Given the description of an element on the screen output the (x, y) to click on. 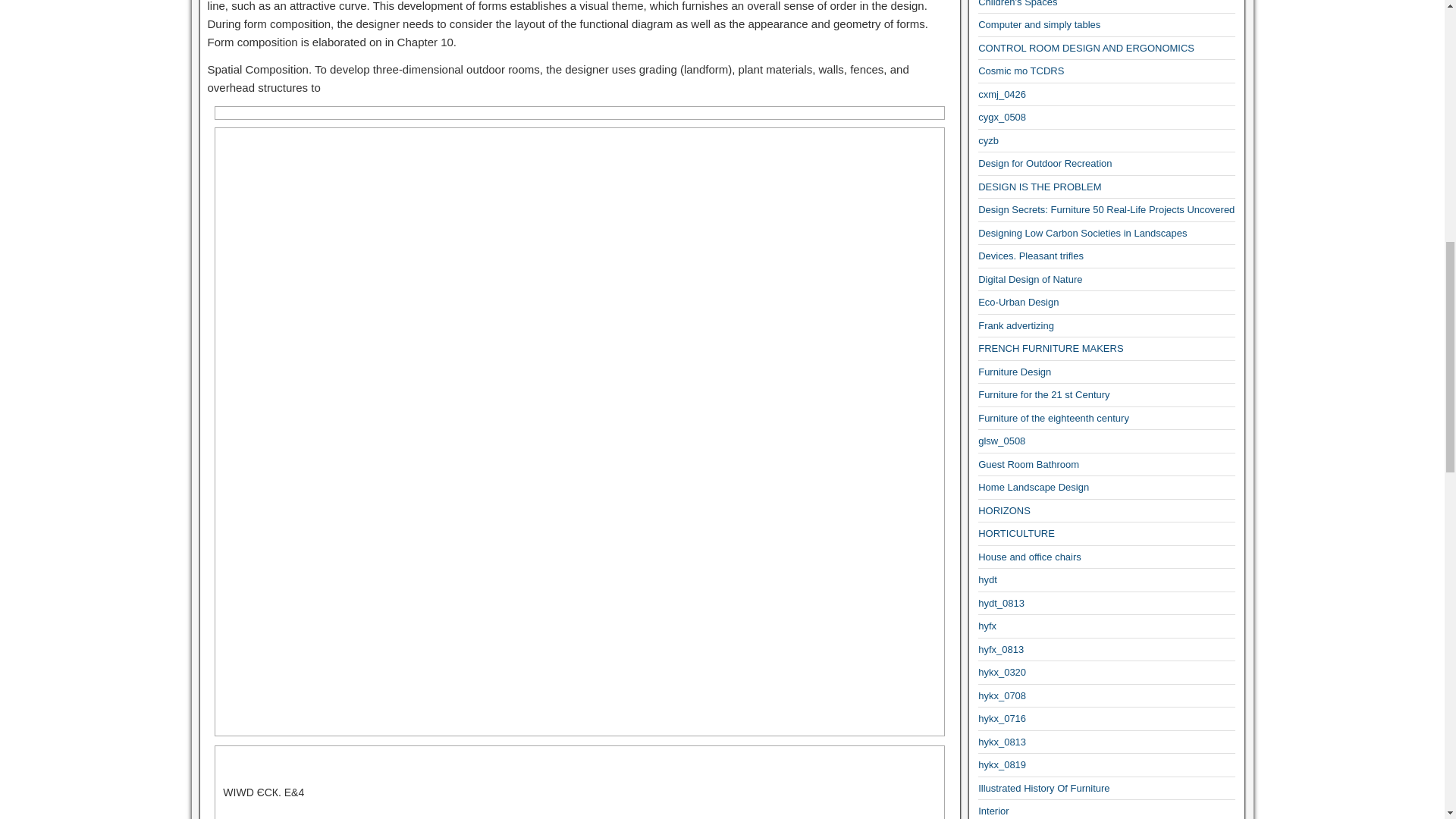
Cosmic mo TCDRS (1021, 70)
cyzb (988, 140)
Design Secrets: Furniture 50 Real-Life Projects Uncovered (1106, 209)
Computer and simply tables (1039, 24)
Design for Outdoor Recreation (1045, 163)
DESIGN IS THE PROBLEM (1039, 186)
CONTROL ROOM DESIGN AND ERGONOMICS (1085, 48)
Devices. Pleasant trifles (1030, 255)
Designing Low Carbon Societies in Landscapes (1082, 233)
Children's Spaces (1017, 3)
